Given the description of an element on the screen output the (x, y) to click on. 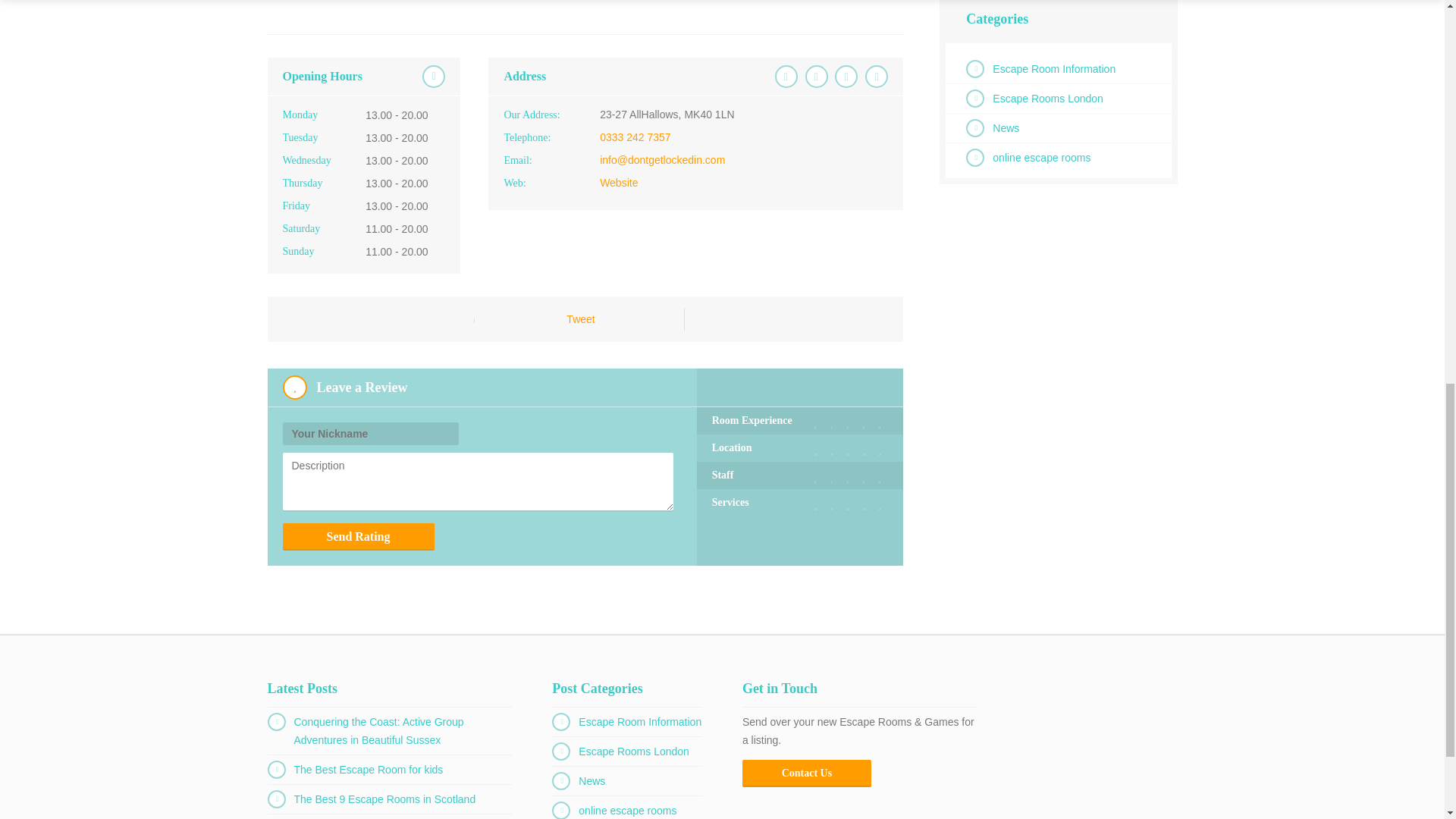
News (591, 780)
Tweet (580, 318)
Send Rating (357, 536)
News (1005, 128)
Escape Rooms London (1047, 98)
The Best 9 Escape Rooms in Scotland (385, 799)
online escape rooms (1041, 157)
Website (618, 182)
0333 242 7357 (634, 137)
Escape Rooms London (633, 751)
The Best Escape Room for kids (369, 769)
Escape Room Information (1053, 69)
online escape rooms (627, 810)
Escape Room Information (639, 721)
